Given the description of an element on the screen output the (x, y) to click on. 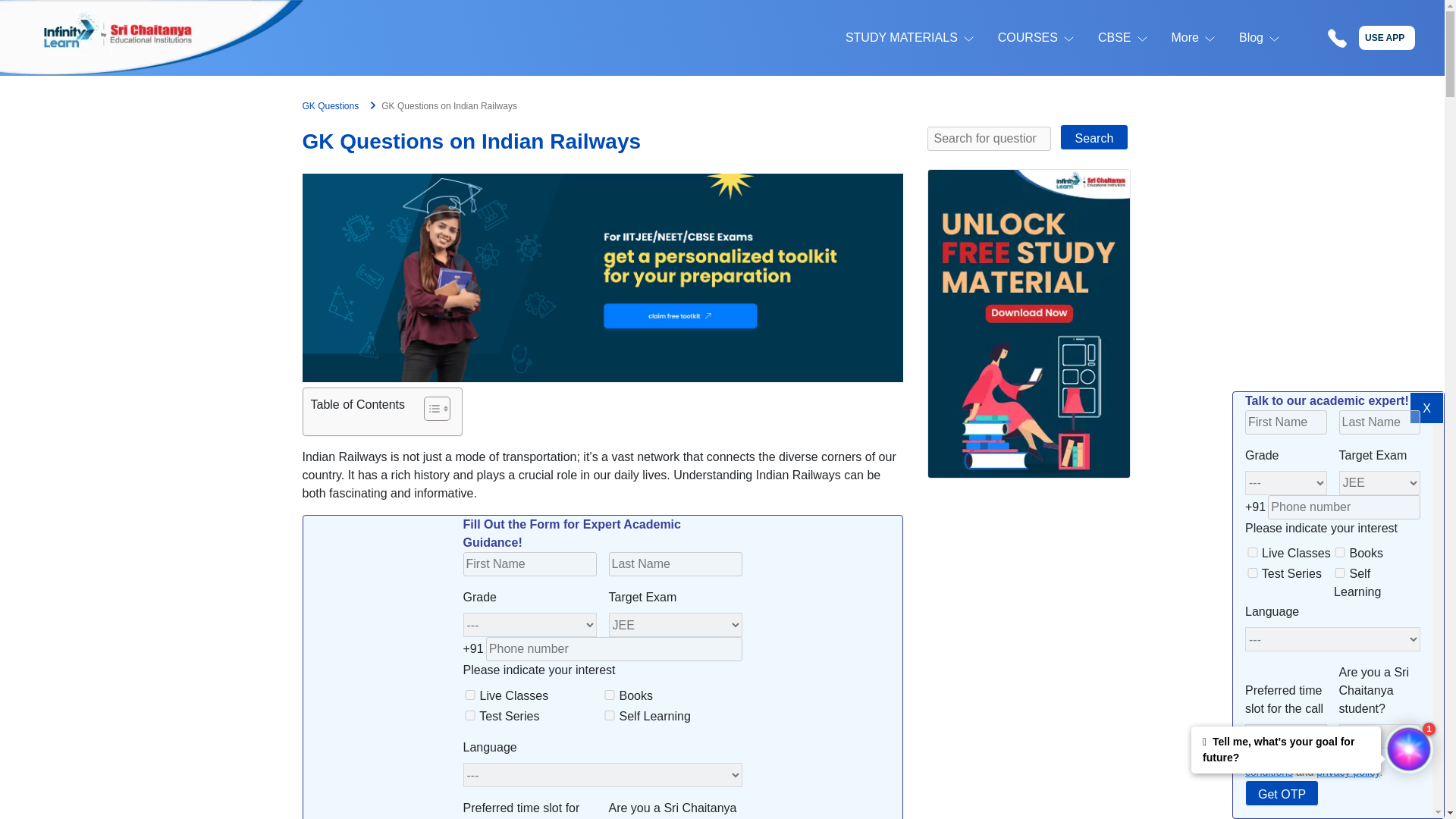
Live Classes (470, 695)
Books (1339, 552)
Infinity Learn by Sri Chaitanya (151, 38)
STUDY MATERIALS (901, 37)
Test Series (1252, 573)
Self Learning (1339, 573)
1 (1250, 755)
Go to the GK Questions category archives. (329, 105)
Live Classes (1252, 552)
Test Series (470, 715)
Search (1093, 136)
Get OTP (1281, 792)
Self Learning (609, 715)
Books (609, 695)
